Given the description of an element on the screen output the (x, y) to click on. 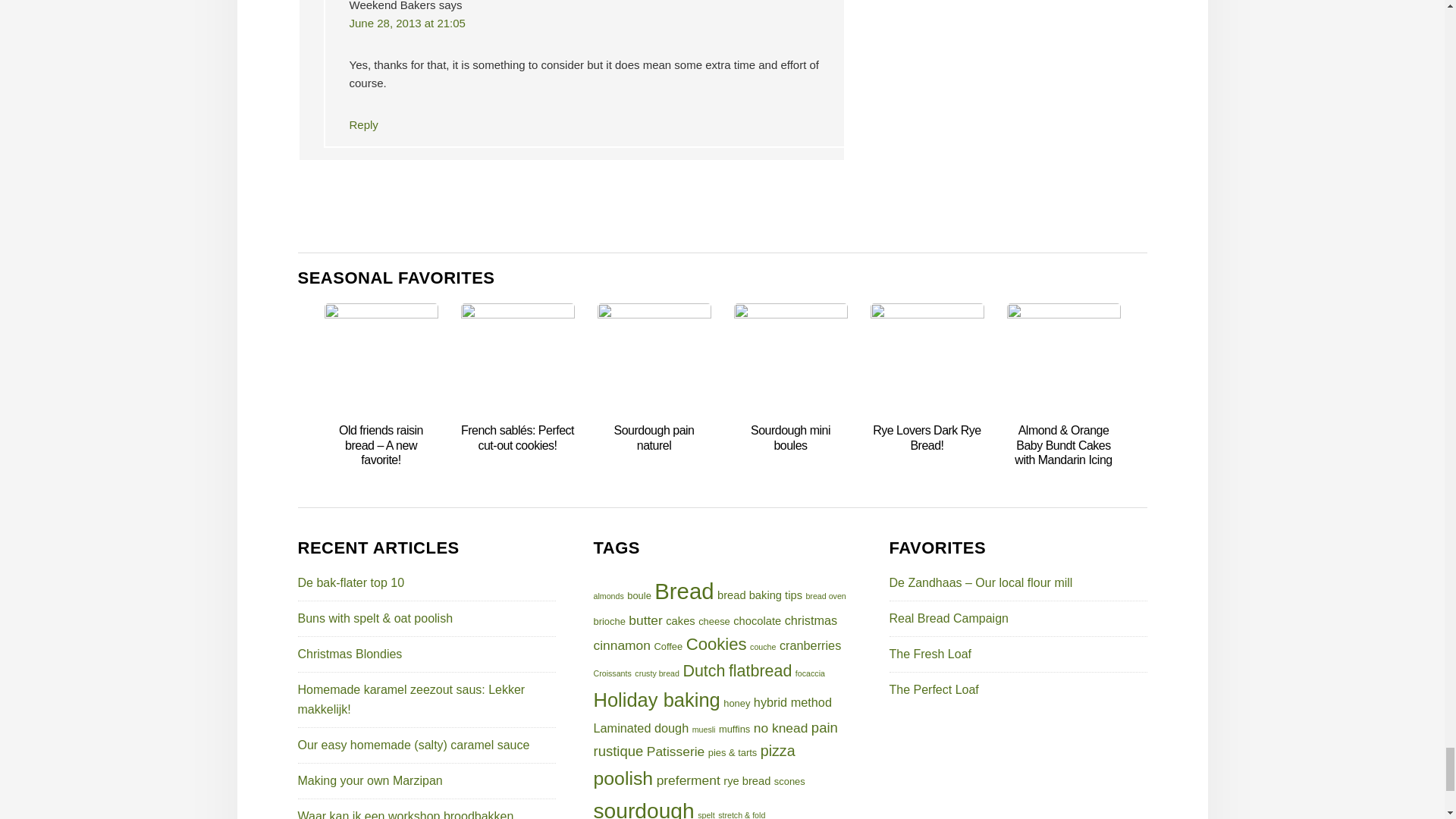
The perfect loaf indeed (933, 689)
